Given the description of an element on the screen output the (x, y) to click on. 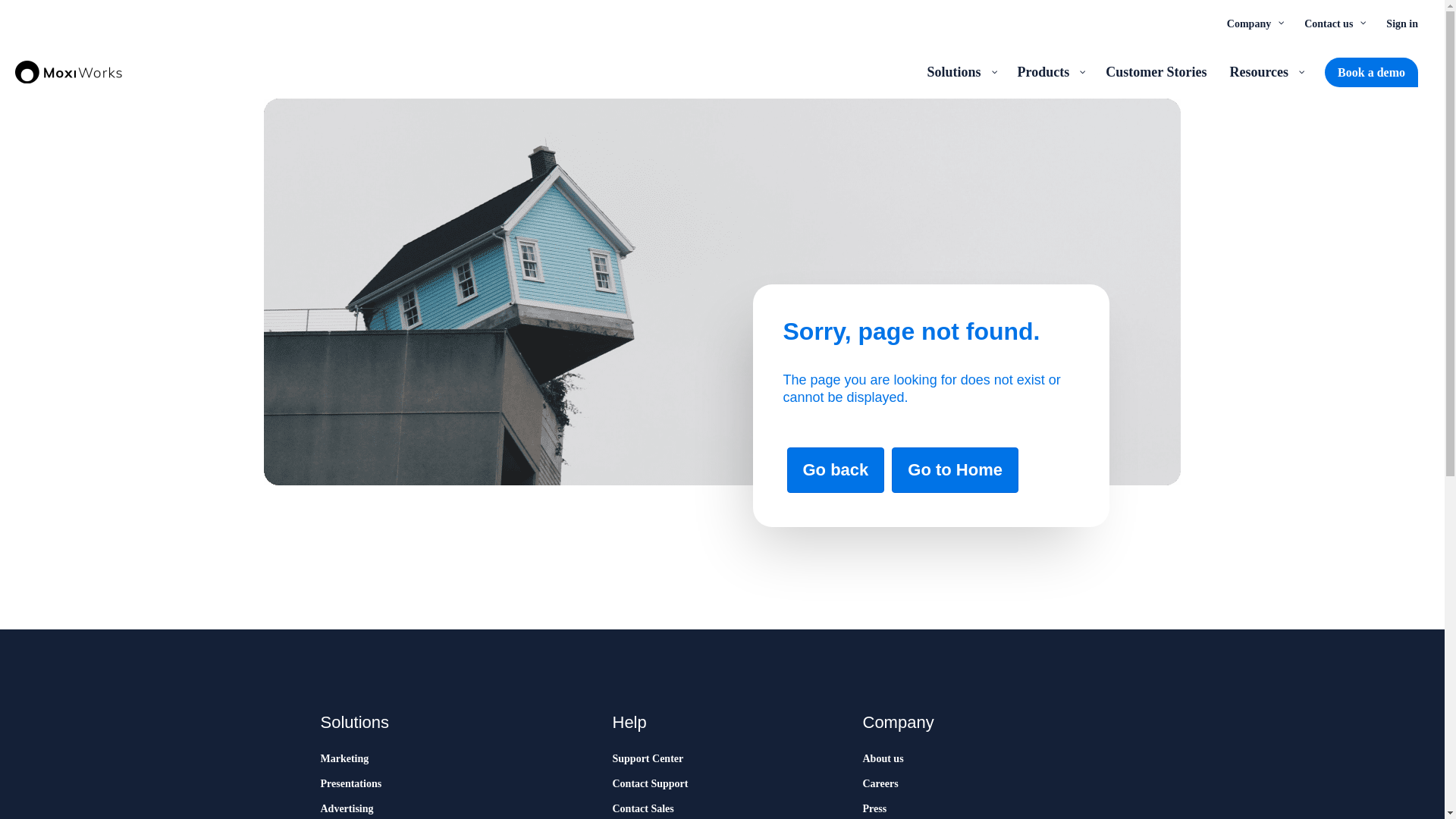
Products (1050, 72)
Company (1253, 22)
Contact us (1333, 22)
Solutions (960, 72)
Sign in (1401, 22)
